Given the description of an element on the screen output the (x, y) to click on. 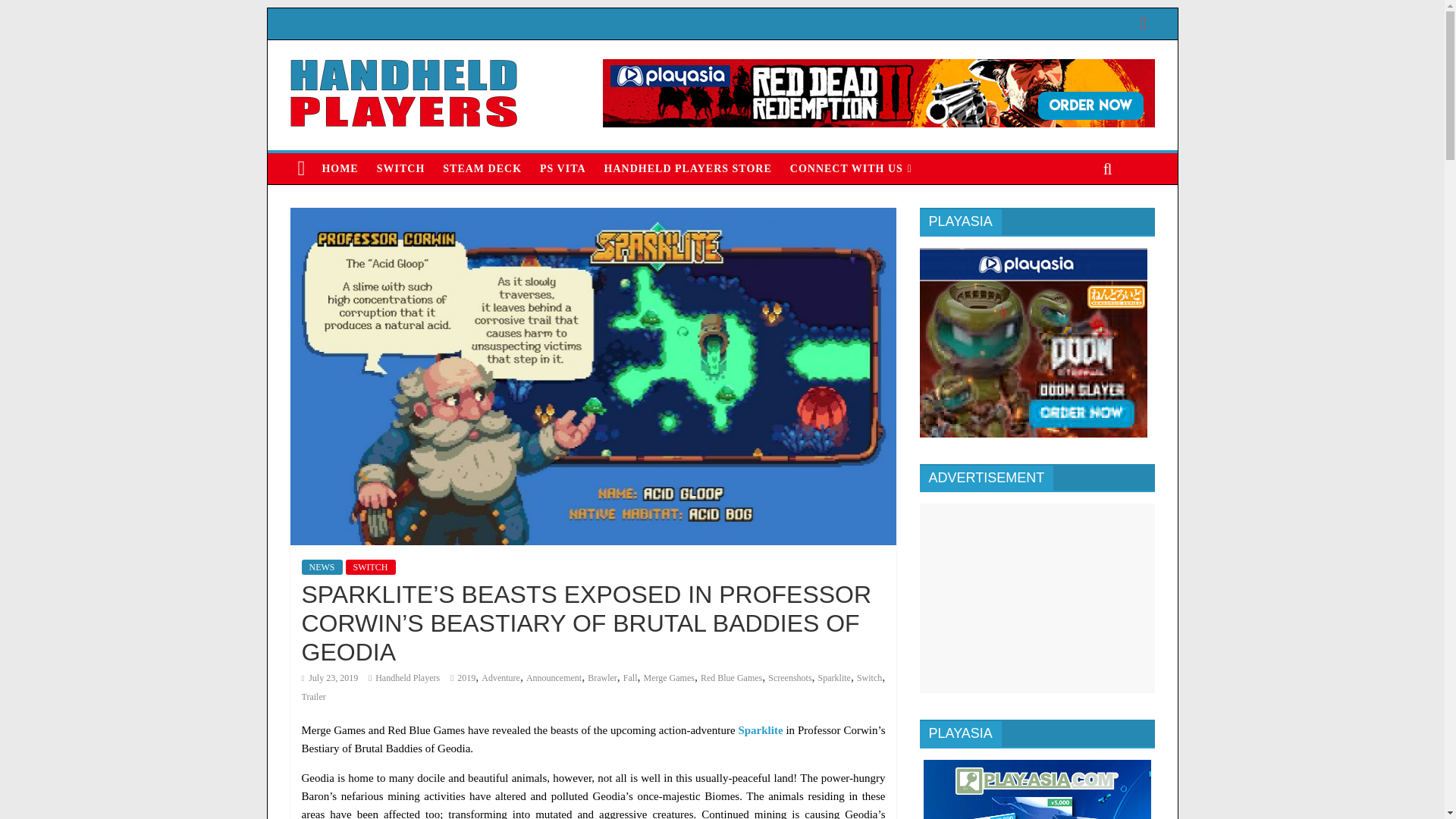
Handheld Players (407, 677)
CONNECT WITH US (850, 168)
STEAM DECK (482, 168)
NEWS (321, 566)
SWITCH (400, 168)
2019 (466, 677)
SWITCH (371, 566)
HOME (339, 168)
Advertisement (1036, 597)
HANDHELD PLAYERS STORE (687, 168)
Handheld Players (407, 677)
Adventure (500, 677)
Announcement (552, 677)
Fall (630, 677)
14:49 (329, 677)
